Given the description of an element on the screen output the (x, y) to click on. 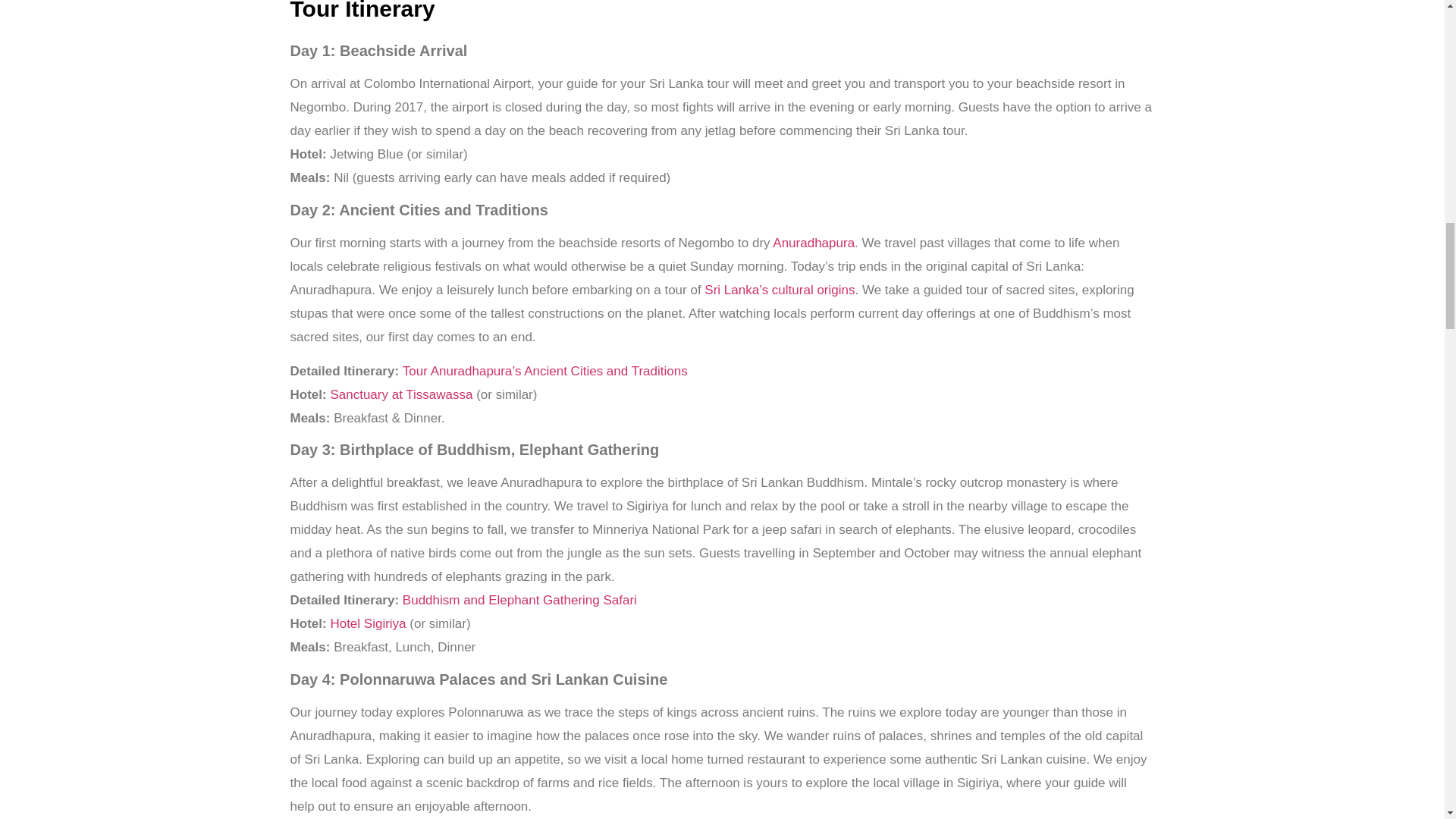
Hotel Sigiriya (368, 623)
Anuradhapura (813, 242)
Page 5 (721, 529)
Buddhism and Elephant Gathering Safari (520, 599)
Sanctuary at Tissawassa (400, 394)
